Given the description of an element on the screen output the (x, y) to click on. 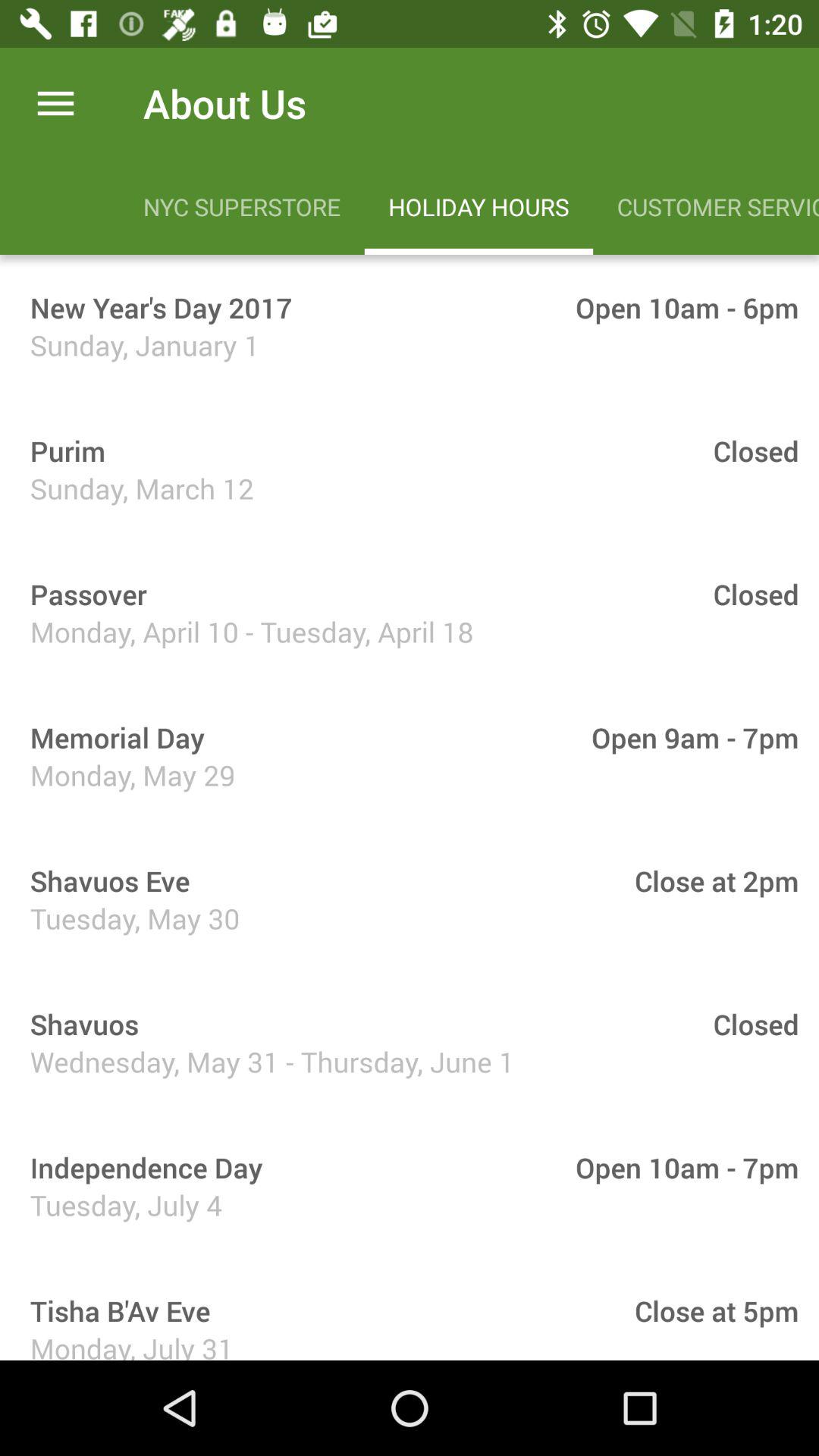
choose the icon below the monday april 10 icon (111, 737)
